Given the description of an element on the screen output the (x, y) to click on. 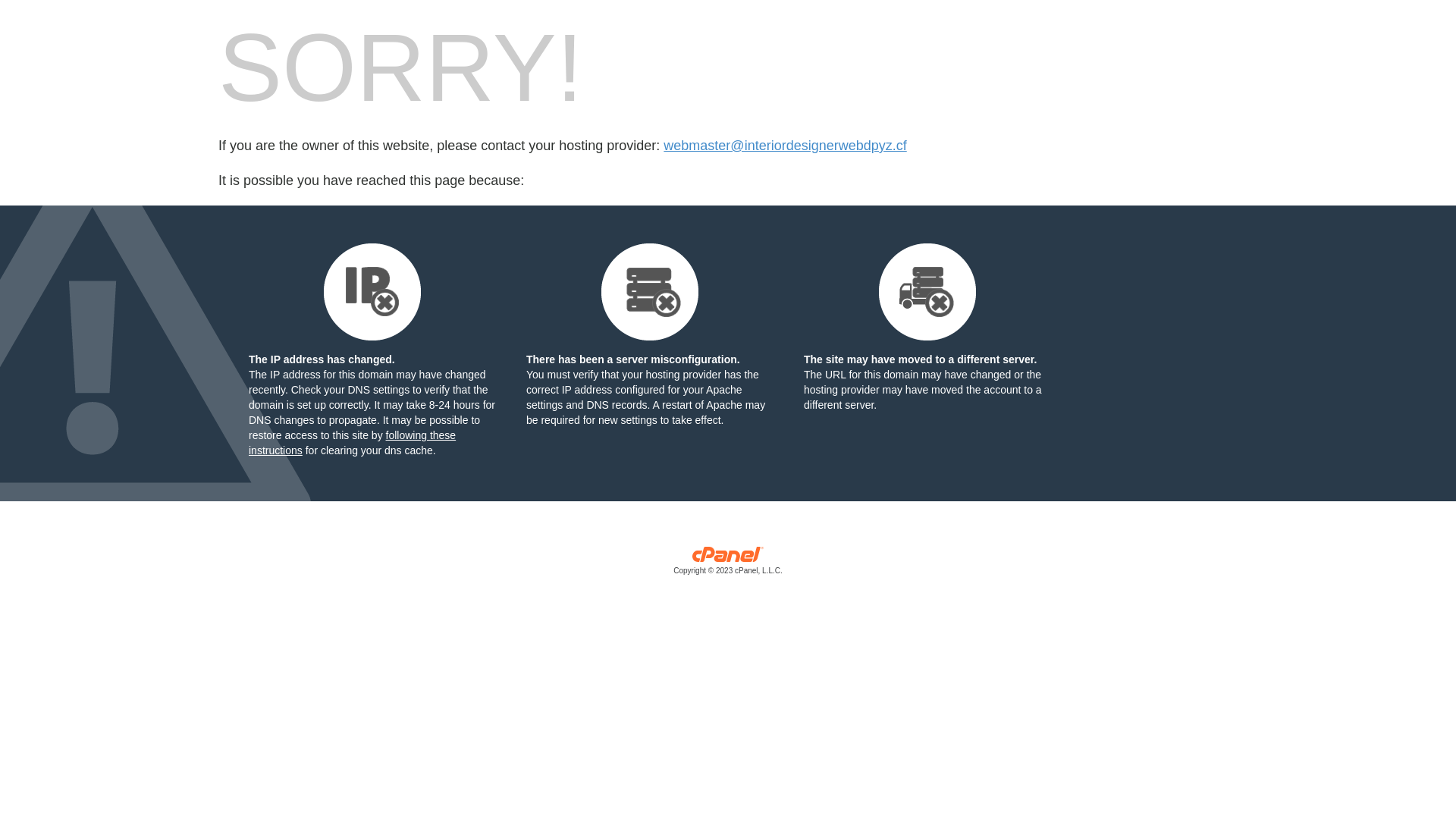
following these instructions Element type: text (351, 442)
webmaster@interiordesignerwebdpyz.cf Element type: text (784, 145)
